Given the description of an element on the screen output the (x, y) to click on. 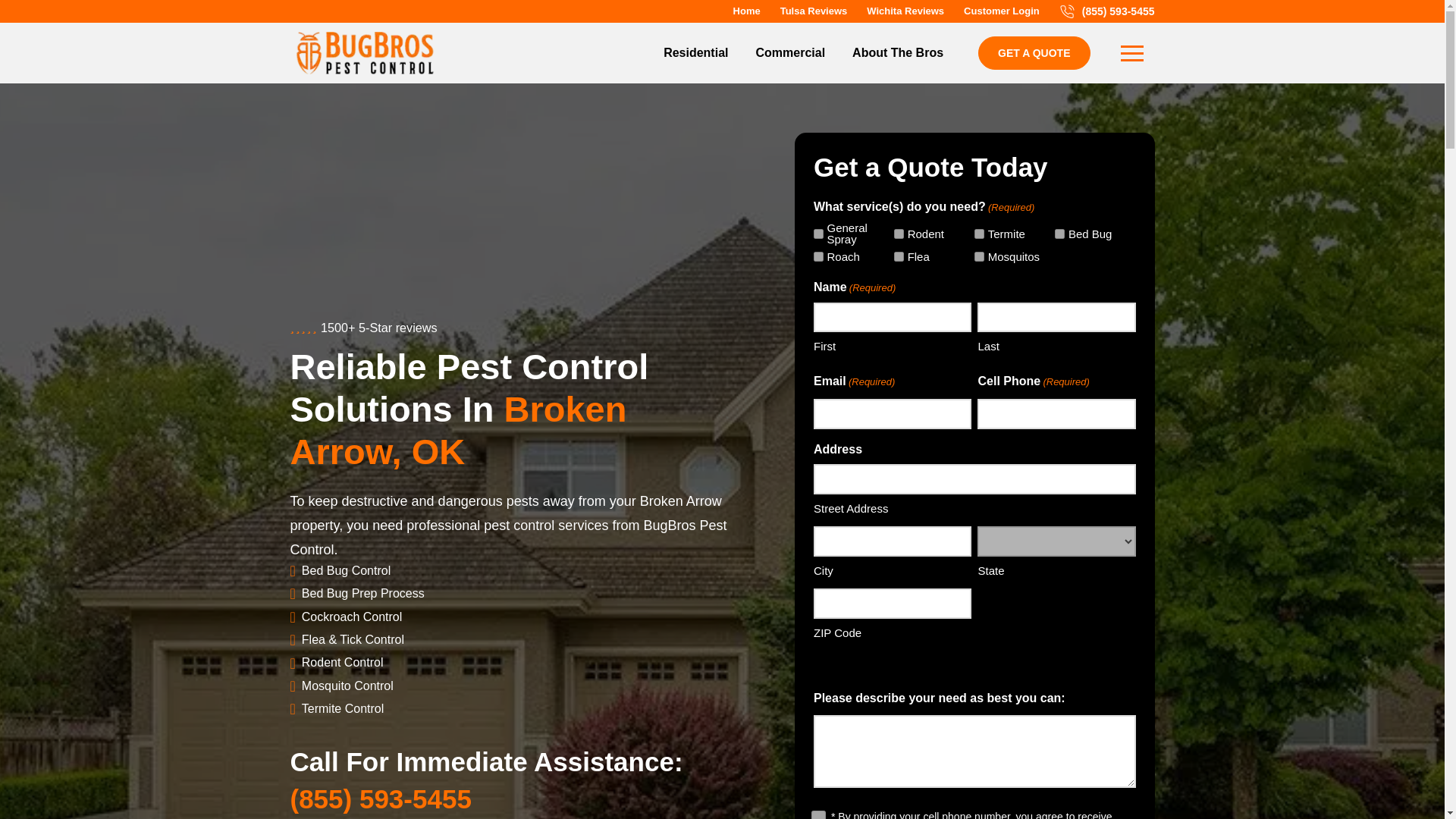
Customer Login (1001, 10)
Wichita Reviews (905, 10)
Home (746, 10)
Bed Bug (1059, 234)
Commercial (789, 52)
Residential (695, 52)
GET A QUOTE (1033, 52)
1 (815, 814)
Termite (979, 234)
Rodent (898, 234)
Roach (818, 256)
Flea (898, 256)
Tulsa Reviews (813, 10)
Mosquitos (979, 256)
About The Bros (897, 52)
